Given the description of an element on the screen output the (x, y) to click on. 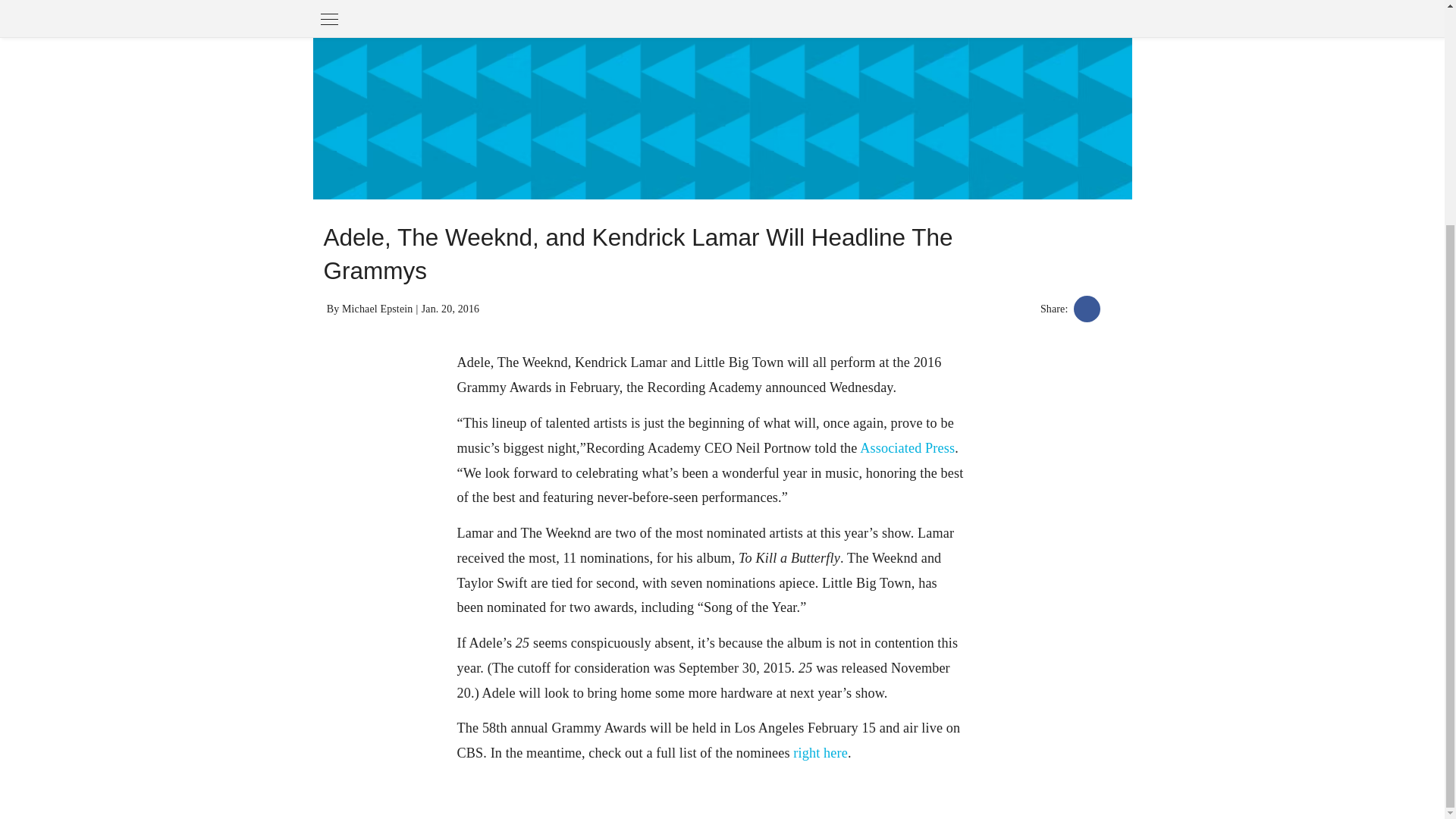
right here (820, 752)
Associated Press (907, 447)
